Given the description of an element on the screen output the (x, y) to click on. 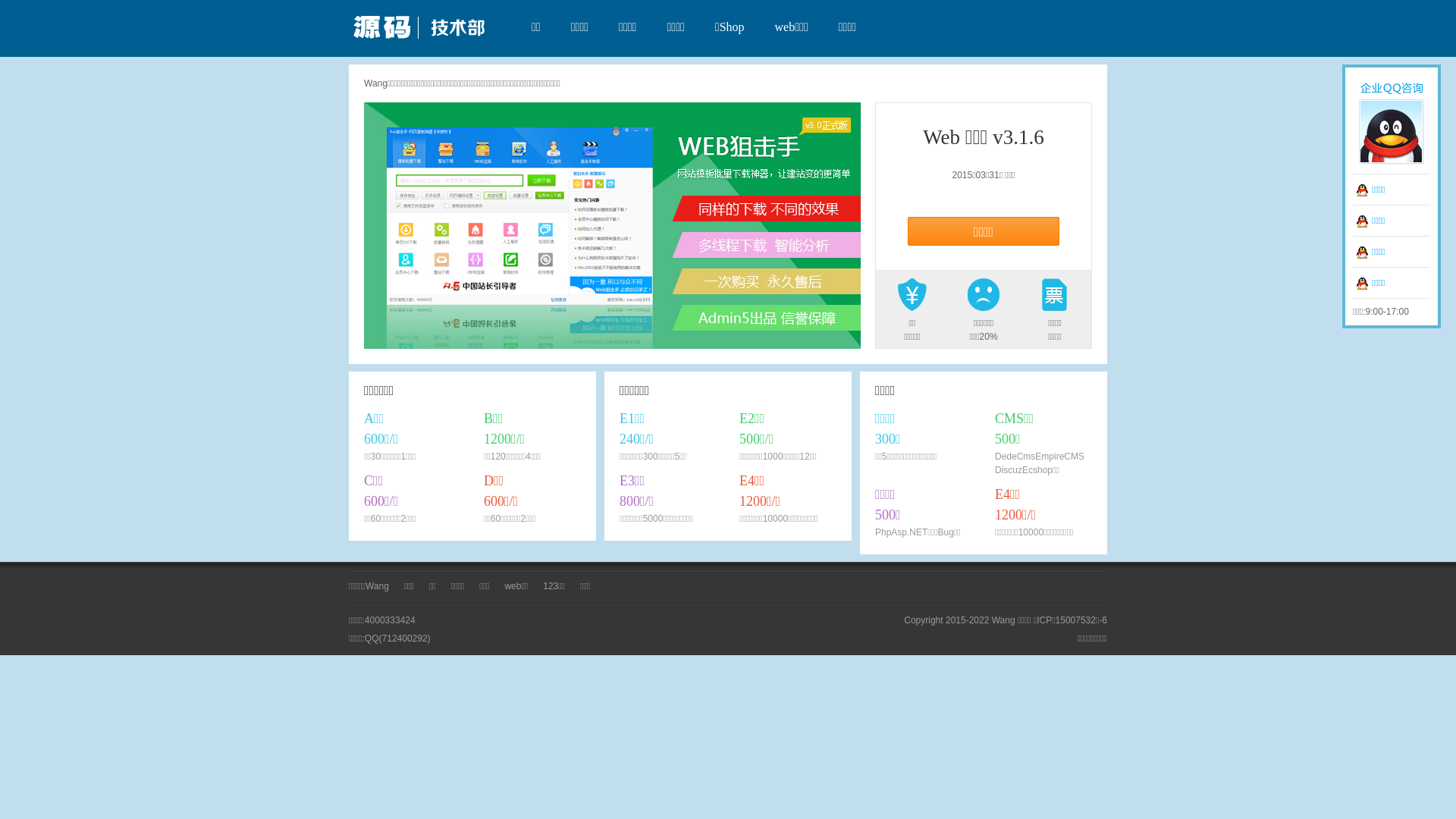
Wang Element type: hover (417, 28)
Wang Element type: text (377, 585)
